Given the description of an element on the screen output the (x, y) to click on. 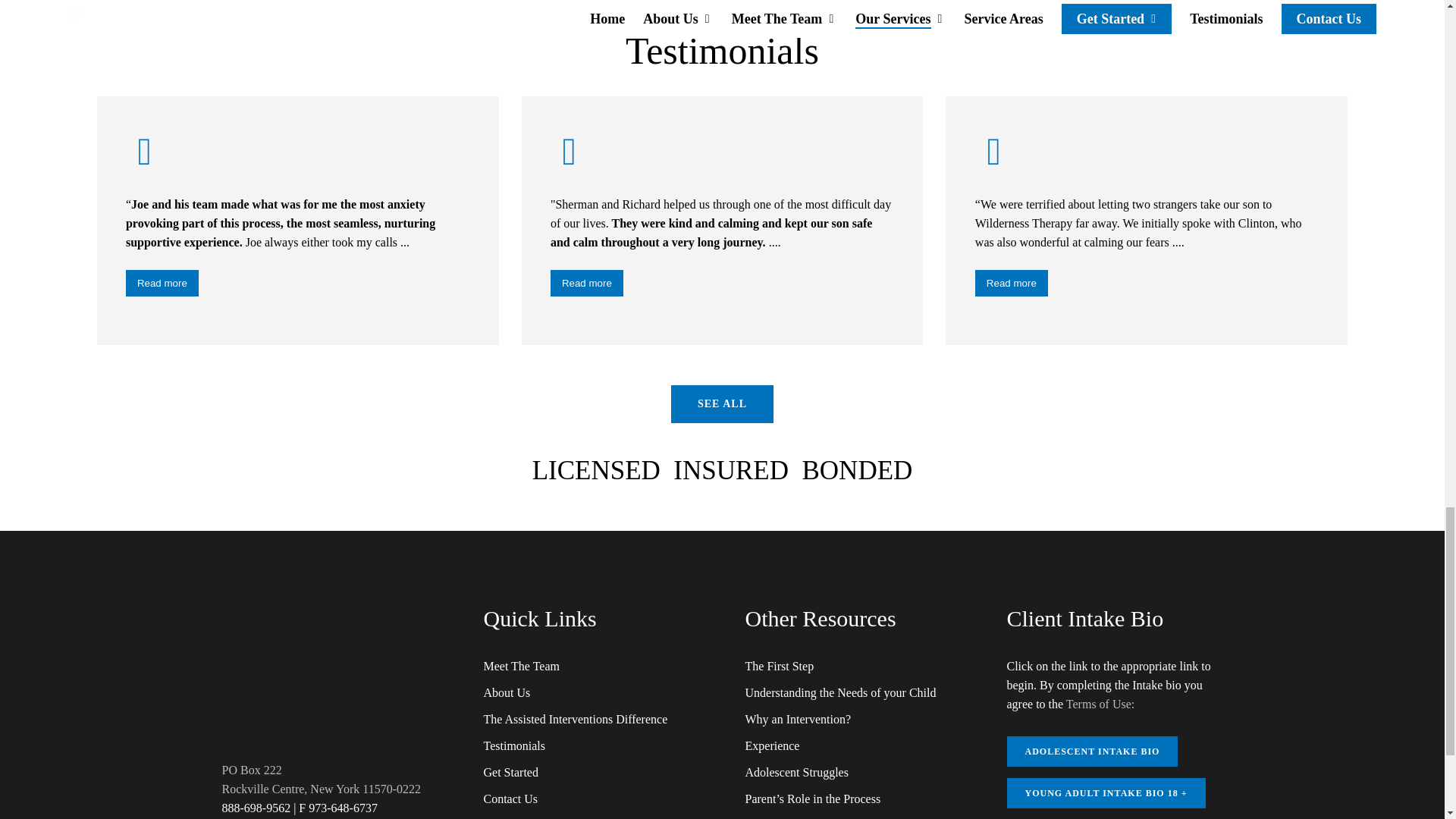
PO Box 222 (251, 769)
Read more (161, 283)
SEE ALL (722, 403)
Read more (586, 283)
Read more (1011, 283)
